Given the description of an element on the screen output the (x, y) to click on. 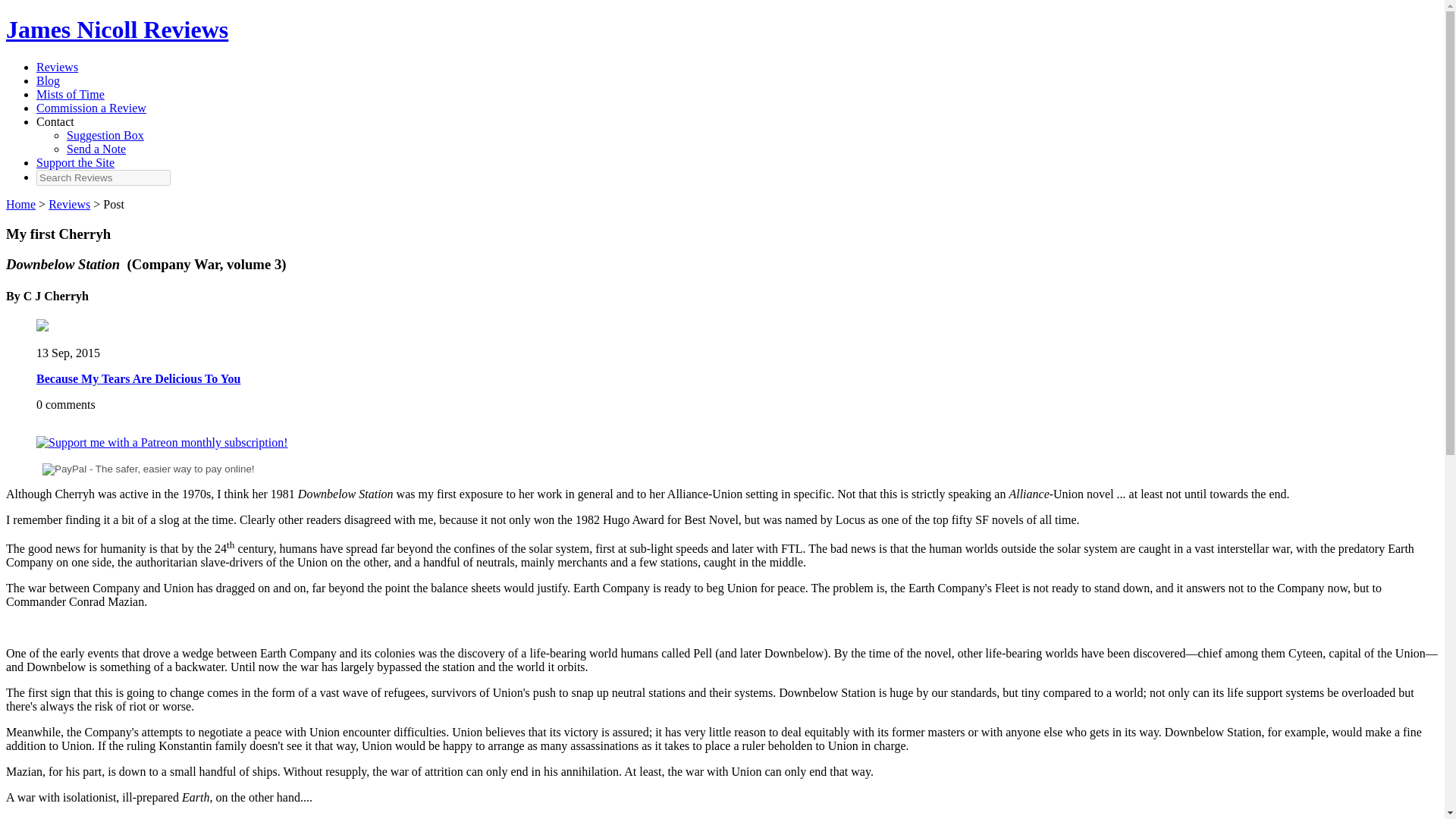
Commission a Review (91, 107)
Home (19, 204)
Because My Tears Are Delicious To You (138, 378)
Mists of Time (70, 93)
Suggestion Box (105, 134)
Reviews (57, 66)
Blog (47, 80)
Reviews (69, 204)
Send a Note (95, 148)
Support the Site (75, 162)
